Given the description of an element on the screen output the (x, y) to click on. 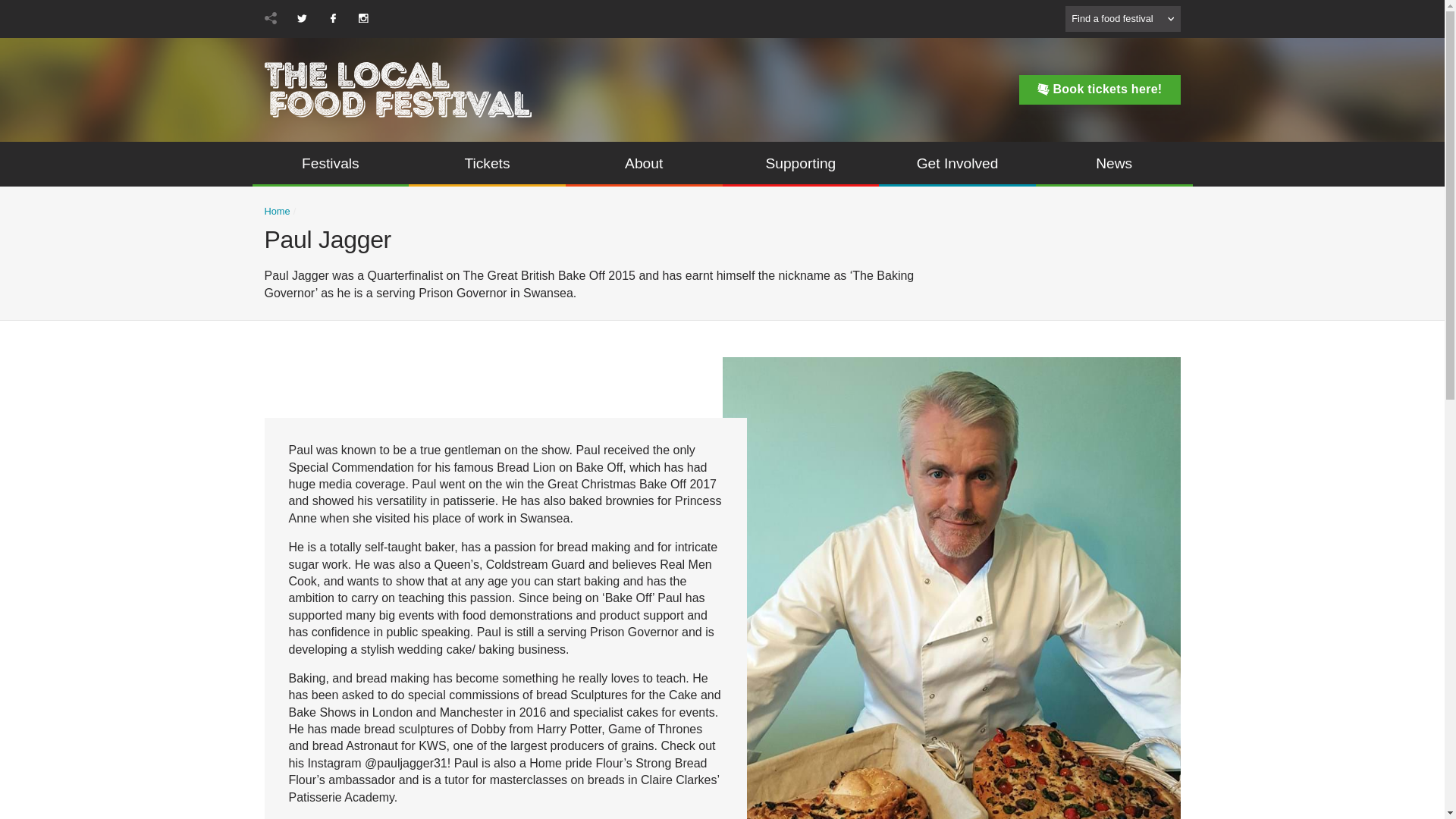
Supporting (800, 163)
The Local Food Festival on Twitter (301, 18)
The Local Food Festival on Instagram (362, 18)
The Local Food Festival on Facebook (332, 18)
Tickets (487, 163)
About (644, 163)
Book tickets here! (1099, 89)
Home (276, 211)
Get Involved (957, 163)
